Given the description of an element on the screen output the (x, y) to click on. 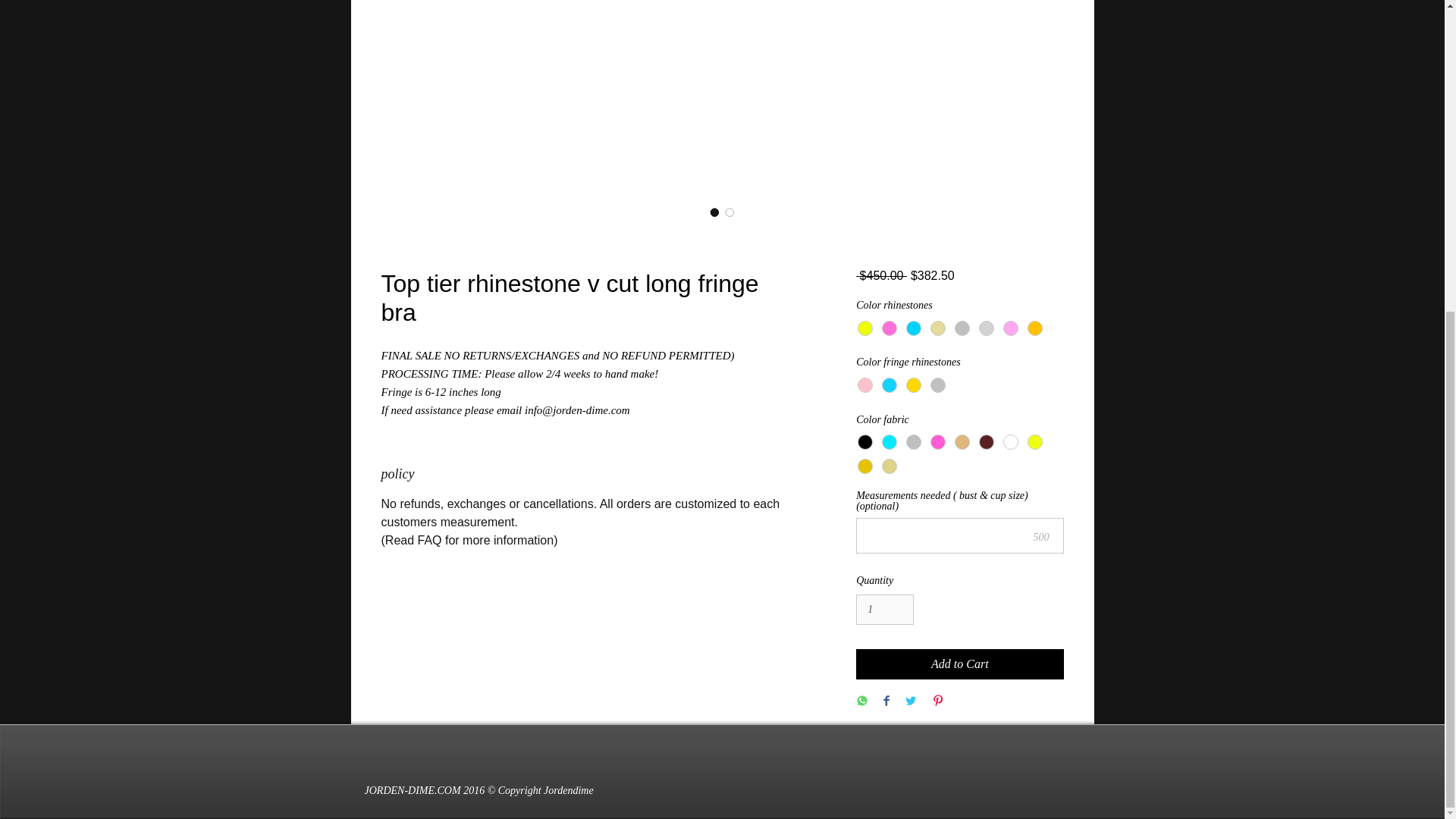
Add to Cart (959, 664)
